Given the description of an element on the screen output the (x, y) to click on. 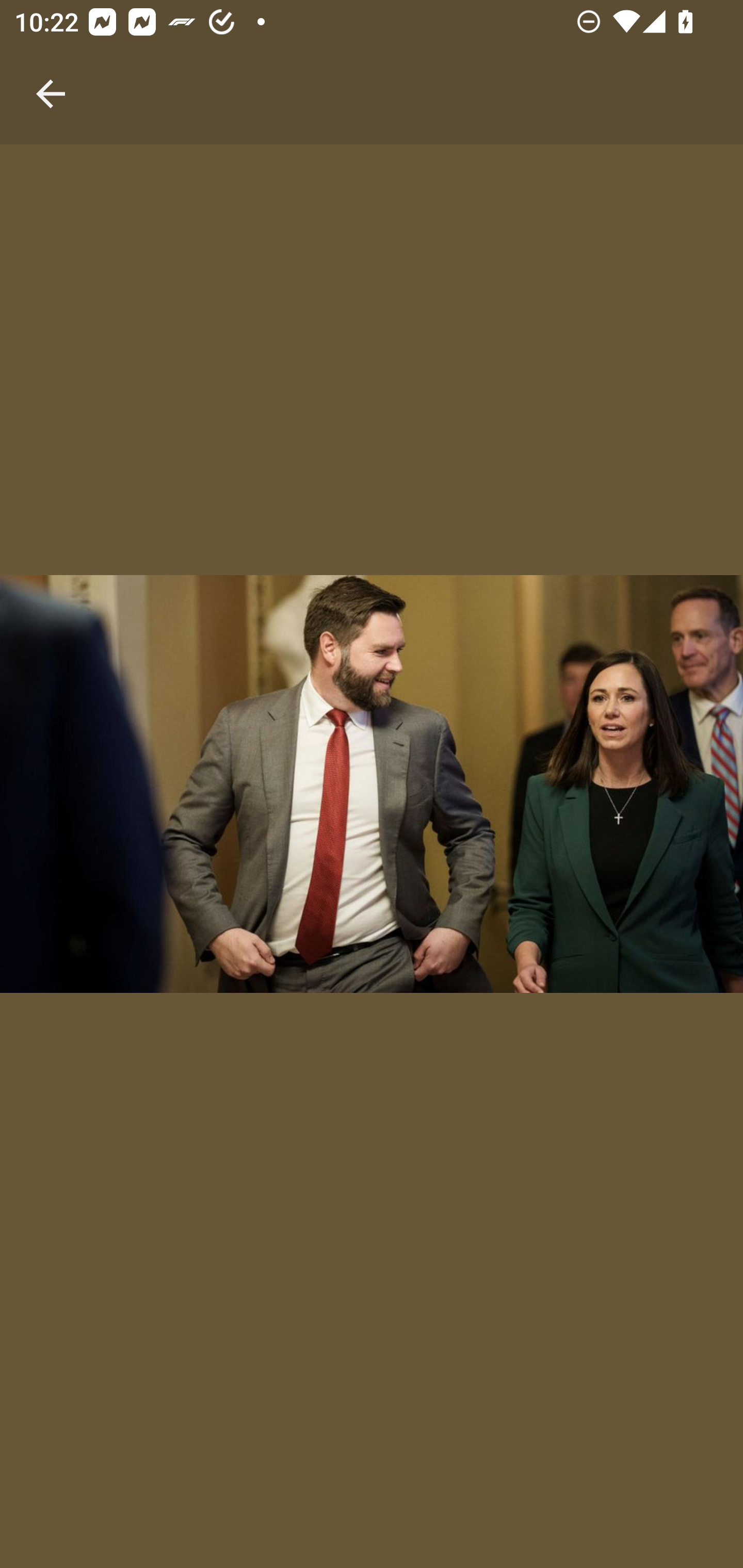
Back (50, 72)
